Given the description of an element on the screen output the (x, y) to click on. 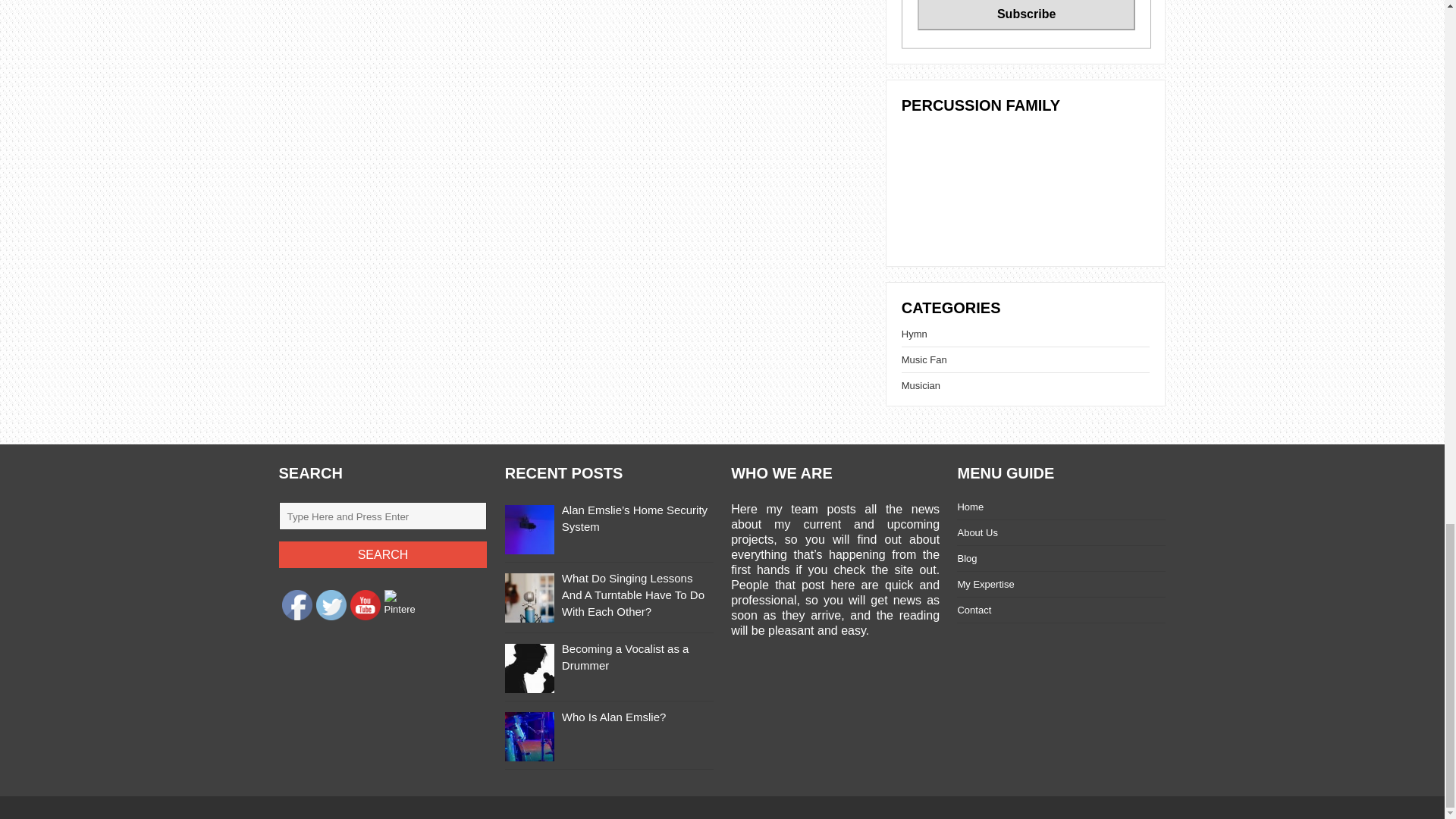
Becoming a Vocalist as a Drummer (625, 656)
Who Is Alan Emslie? (614, 716)
Musician (920, 385)
Twitter (330, 604)
Music Fan (924, 359)
Search (383, 554)
Facebook (297, 604)
YouTube (365, 604)
